Given the description of an element on the screen output the (x, y) to click on. 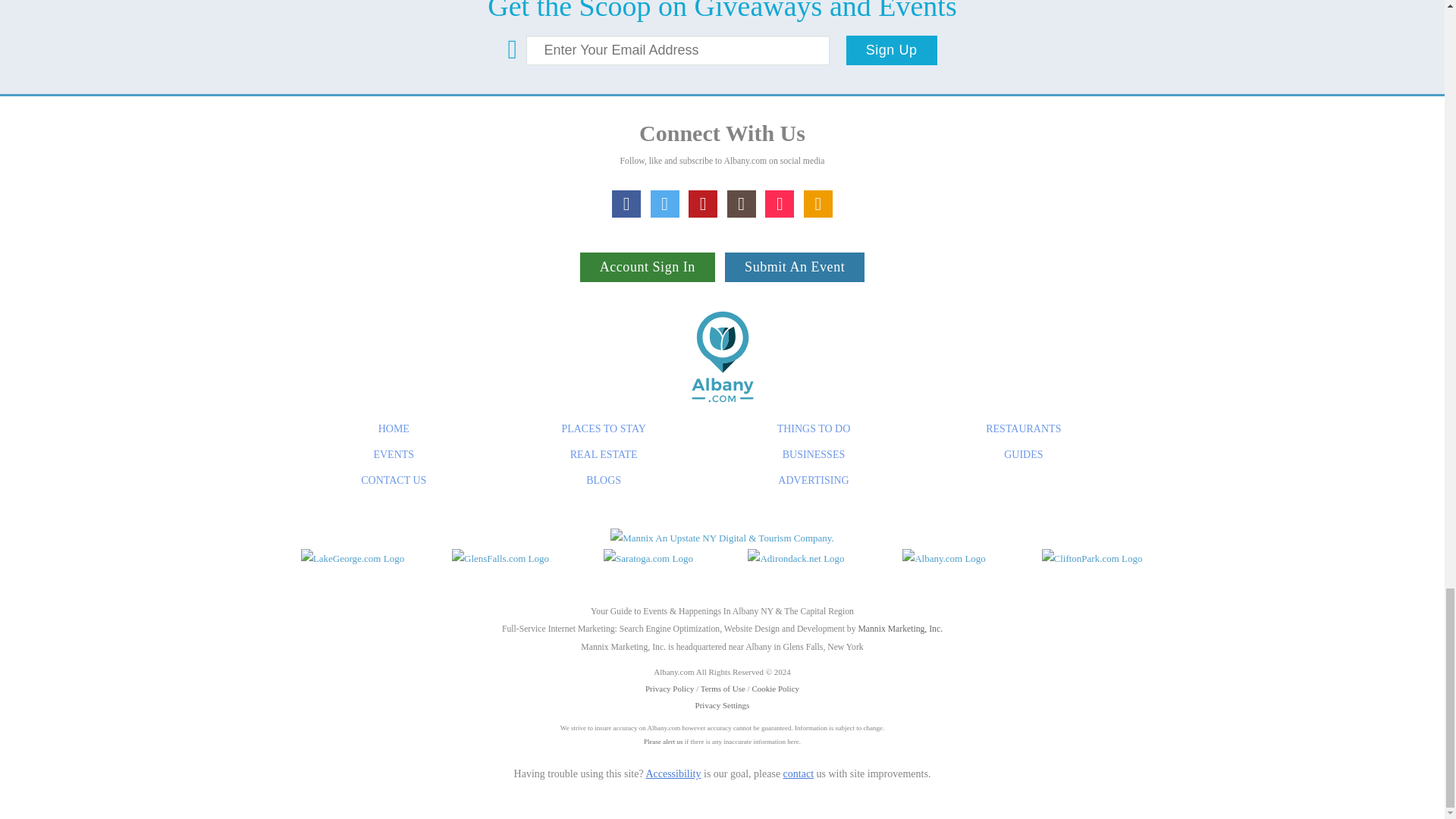
X (664, 281)
Instagram (740, 281)
Pinterest (702, 281)
TikTok (779, 281)
Facebook (625, 281)
My Planner (817, 281)
